Given the description of an element on the screen output the (x, y) to click on. 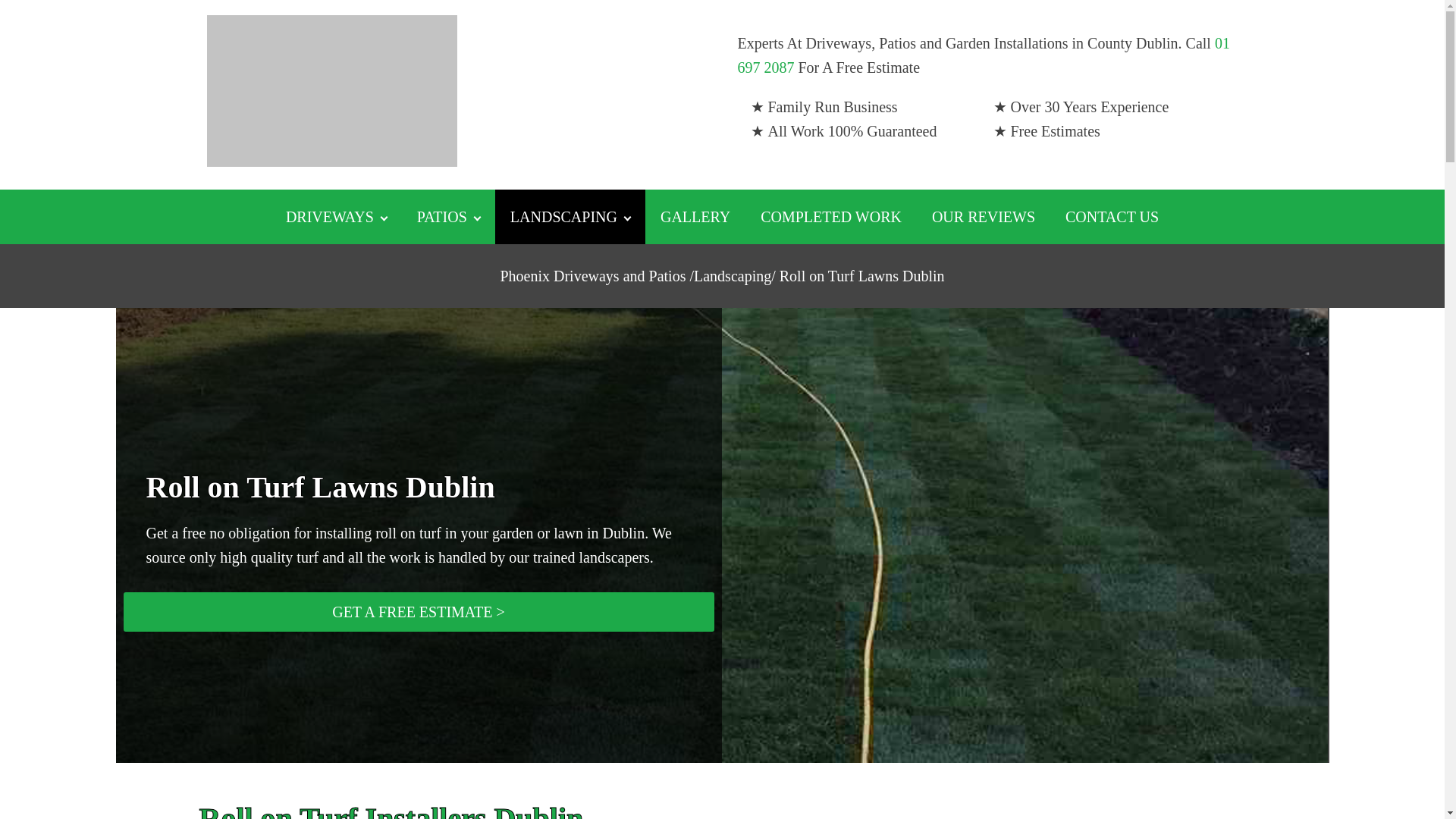
PATIOS (448, 216)
LANDSCAPING (570, 216)
Phoenix Driveways and Patios (592, 275)
Landscaping (732, 275)
DRIVEWAYS (335, 216)
CONTACT US (1111, 216)
OUR REVIEWS (983, 216)
01 697 2087 (982, 55)
GALLERY (695, 216)
COMPLETED WORK (831, 216)
